Given the description of an element on the screen output the (x, y) to click on. 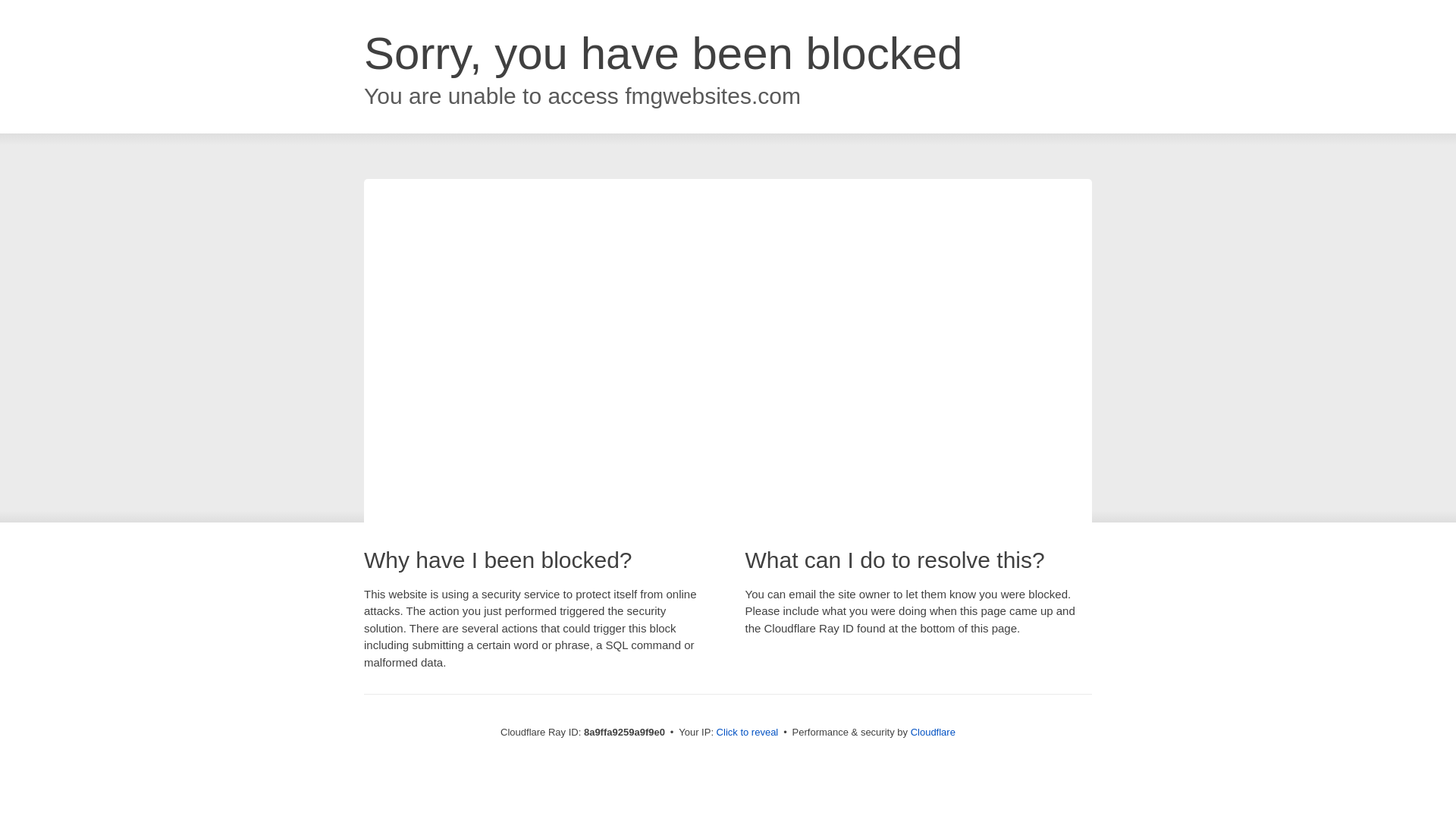
Cloudflare (933, 731)
Click to reveal (747, 732)
